Given the description of an element on the screen output the (x, y) to click on. 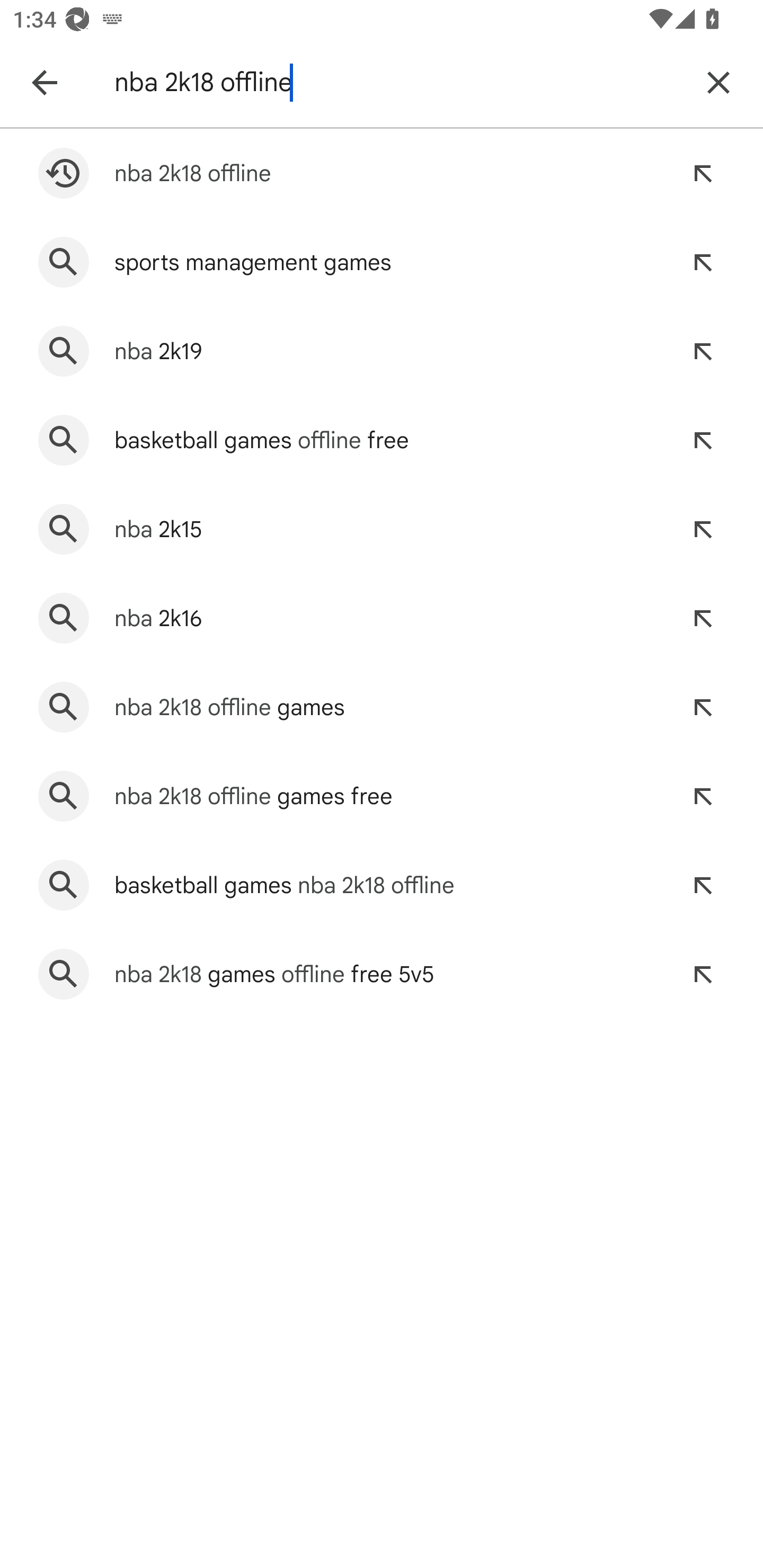
Navigate up (44, 81)
nba 2k18 offline (397, 81)
Clear (718, 81)
Refine search to "nba 2k18 offline" (702, 172)
Refine search to "sports management games" (702, 262)
Search for "nba 2k19"  Refine search to "nba 2k19" (381, 351)
Refine search to "nba 2k19" (702, 351)
Refine search to "basketball games offline free" (702, 439)
Search for "nba 2k15"  Refine search to "nba 2k15" (381, 528)
Refine search to "nba 2k15" (702, 528)
Search for "nba 2k16"  Refine search to "nba 2k16" (381, 618)
Refine search to "nba 2k16" (702, 618)
Refine search to "nba 2k18 offline games" (702, 707)
Refine search to "nba 2k18 offline games free" (702, 795)
Refine search to "nba 2k18 games offline free 5v5" (702, 974)
